Given the description of an element on the screen output the (x, y) to click on. 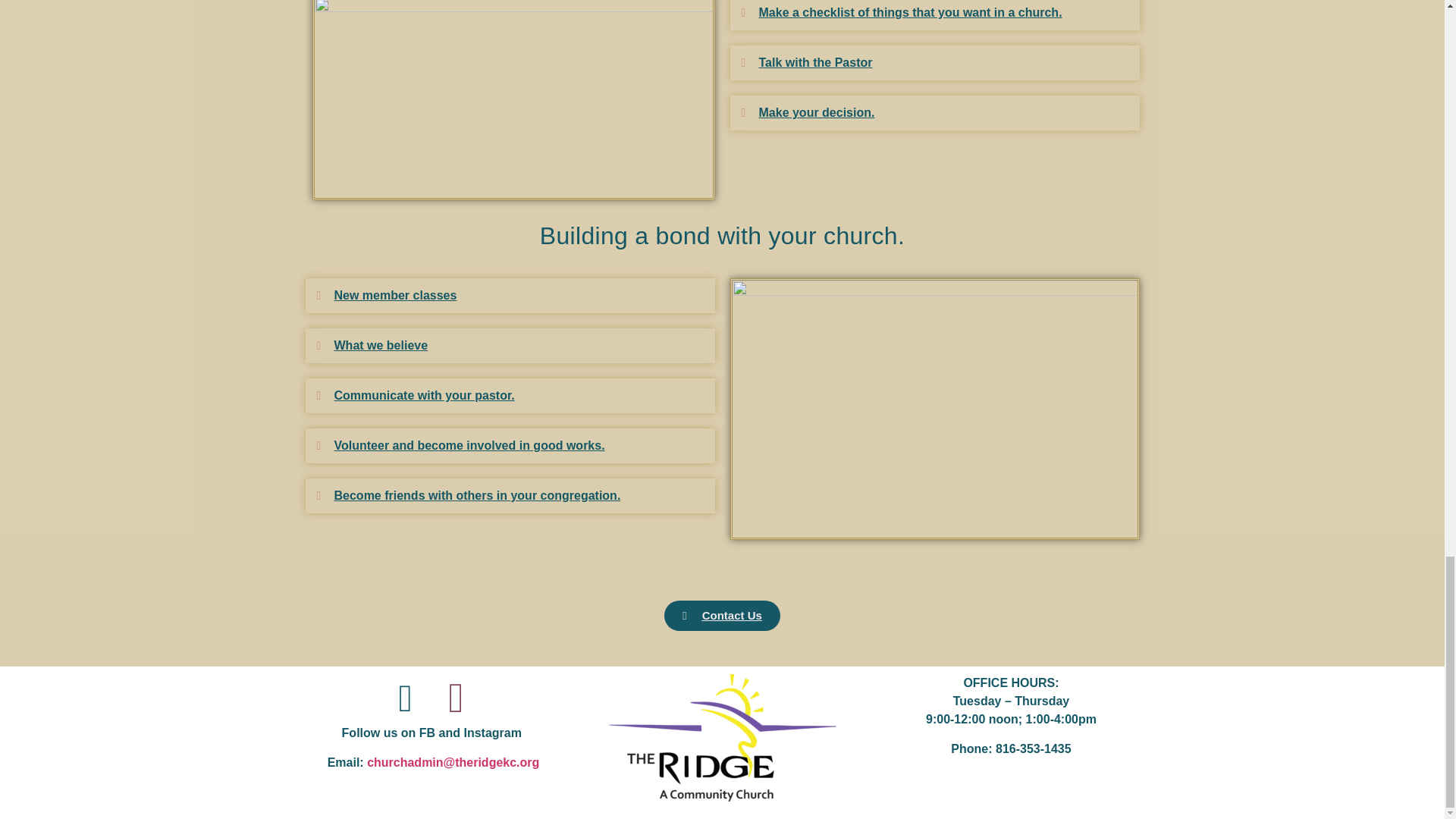
Make a checklist of things that you want in a church. (909, 11)
Talk with the Pastor (815, 62)
